Given the description of an element on the screen output the (x, y) to click on. 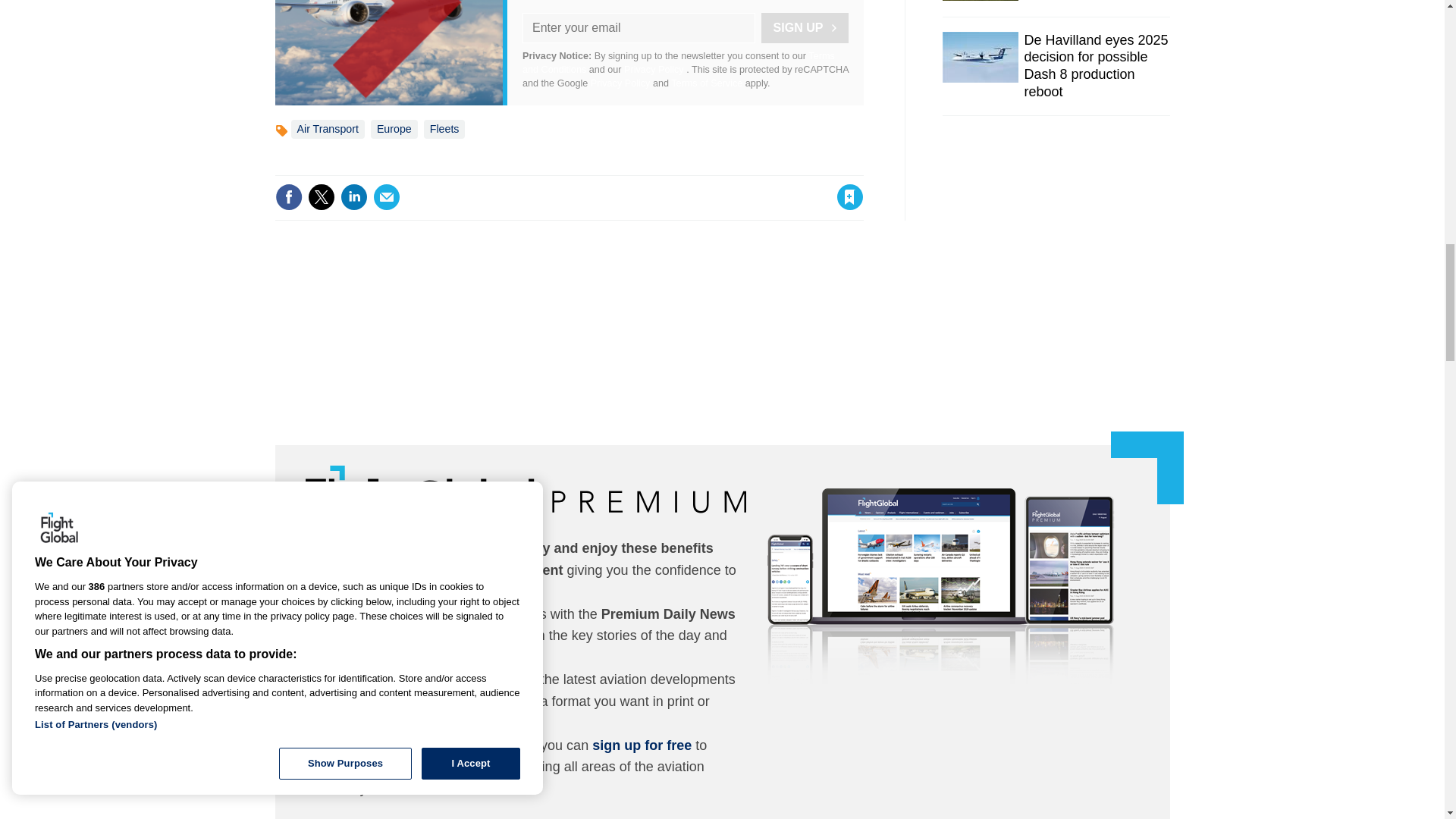
Share this on Twitter (320, 196)
Email this article (386, 196)
Share this on Linked in (352, 196)
Share this on Facebook (288, 196)
